Given the description of an element on the screen output the (x, y) to click on. 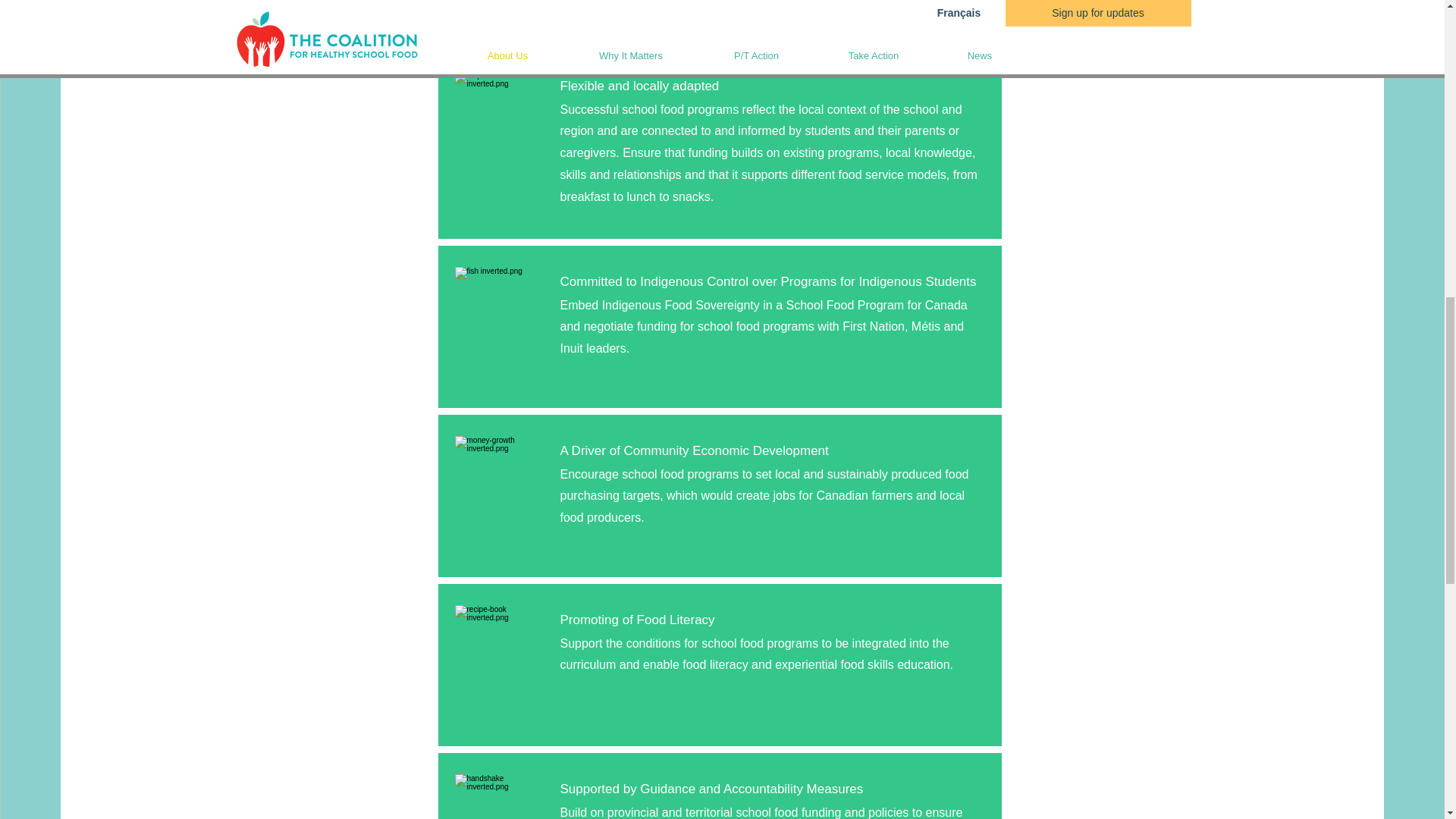
heart.png (499, 480)
heart.png (499, 115)
heart.png (499, 311)
heart.png (499, 649)
heart.png (499, 796)
